Given the description of an element on the screen output the (x, y) to click on. 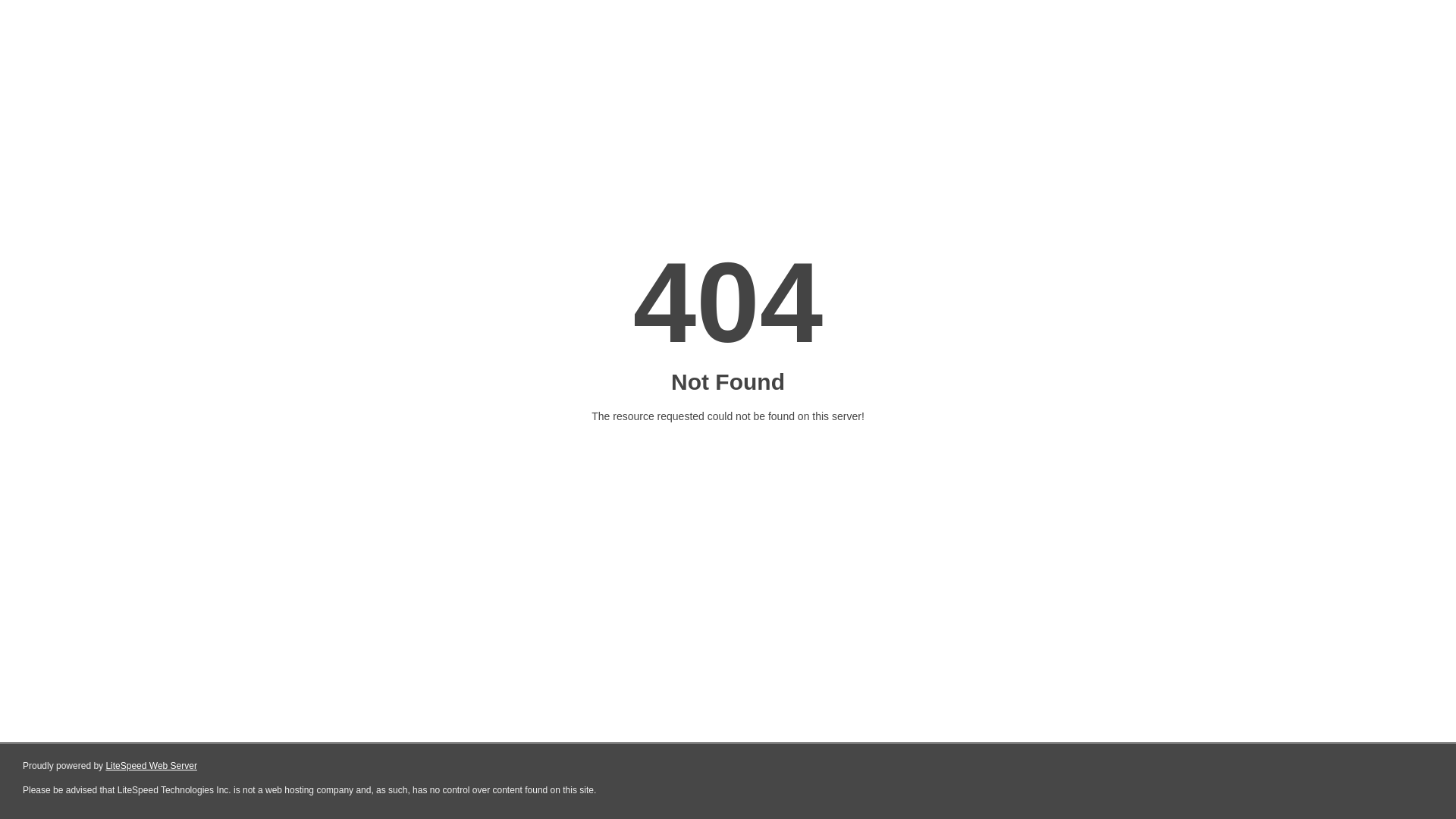
LiteSpeed Web Server Element type: text (151, 765)
